Given the description of an element on the screen output the (x, y) to click on. 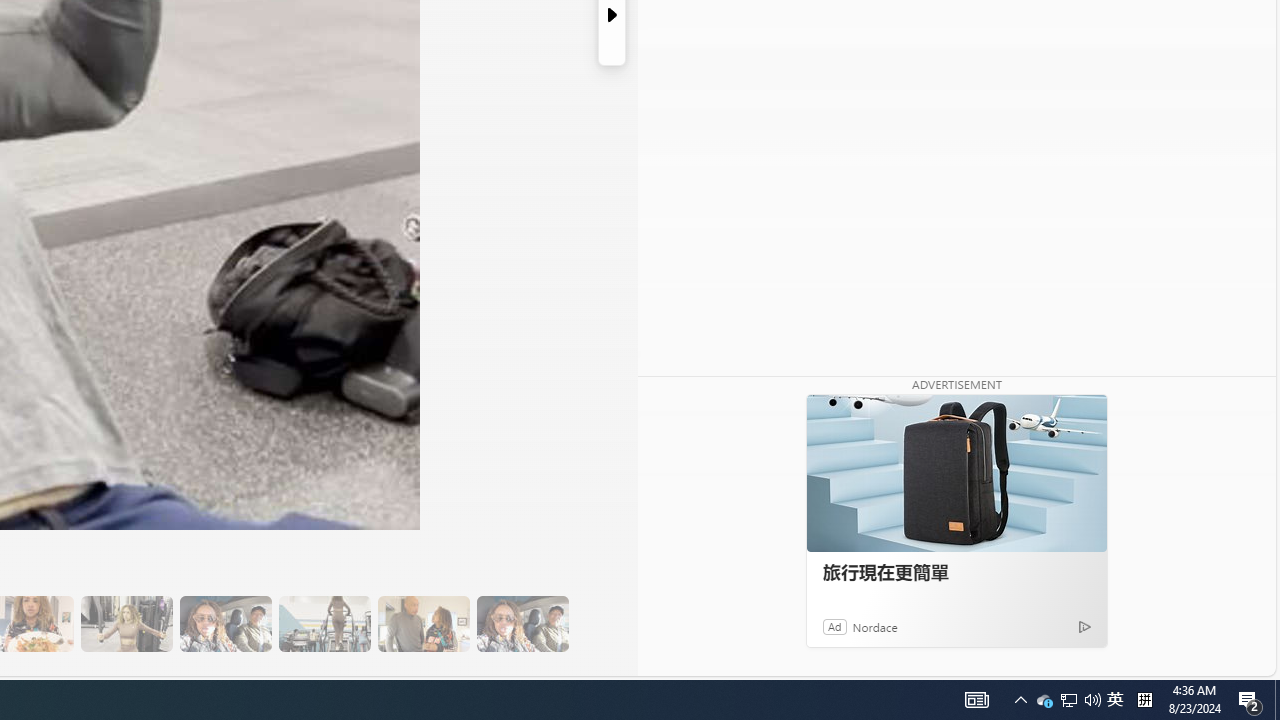
16 The Couple's Program Helps with Accountability (225, 624)
15 They Also Indulge in a Low-Calorie Sweet Treat (125, 624)
15 They Also Indulge in a Low-Calorie Sweet Treat (125, 624)
19 It Also Simplifies Thiings (522, 624)
18 It's More Fun Doing It with Someone Else (423, 624)
18 It's More Fun Doing It with Someone Else (423, 624)
16 The Couple's Program Helps with Accountability (225, 624)
19 It Also Simplifies Thiings (522, 624)
